Given the description of an element on the screen output the (x, y) to click on. 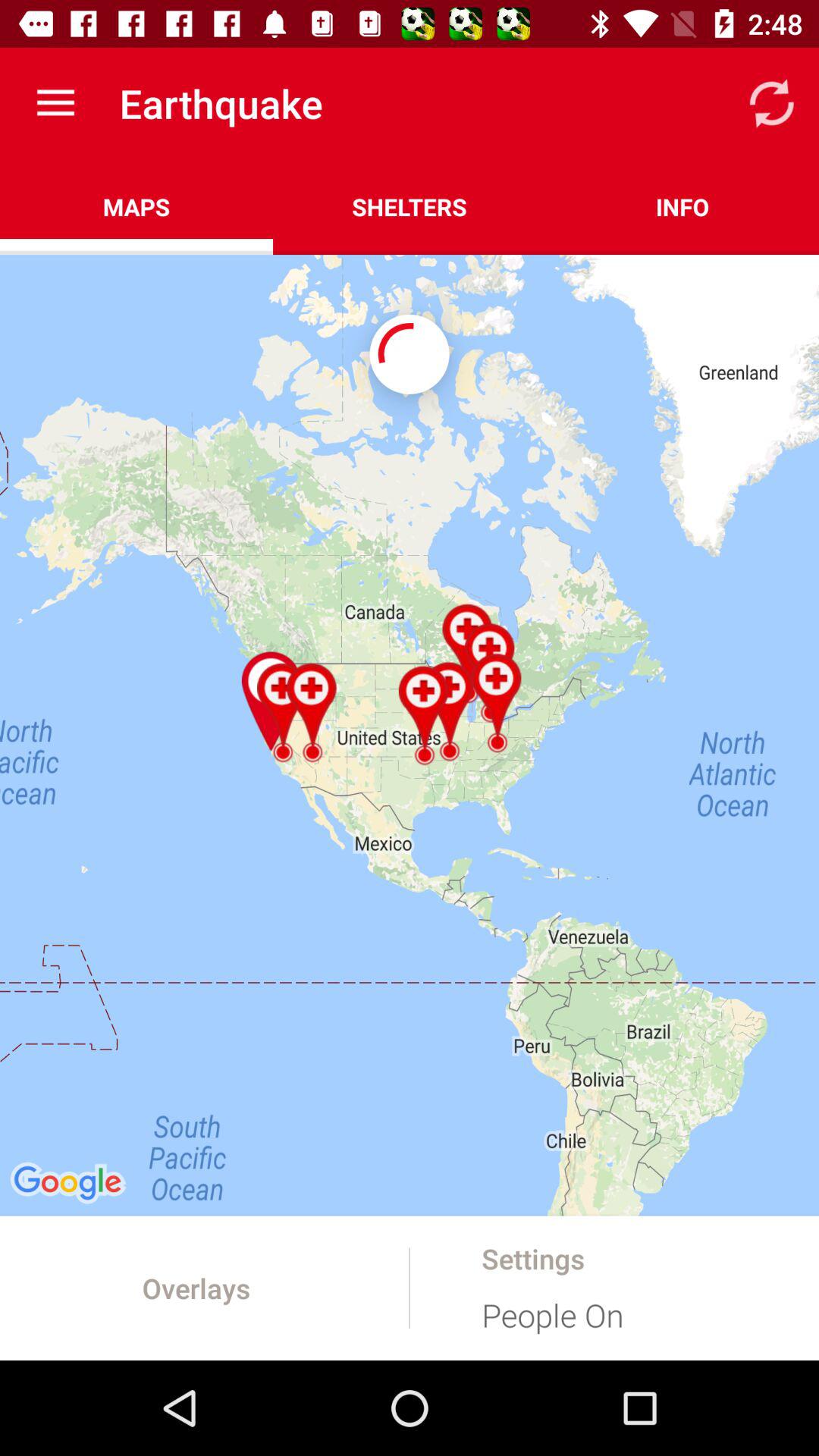
turn off item to the right of the shelters item (682, 206)
